Given the description of an element on the screen output the (x, y) to click on. 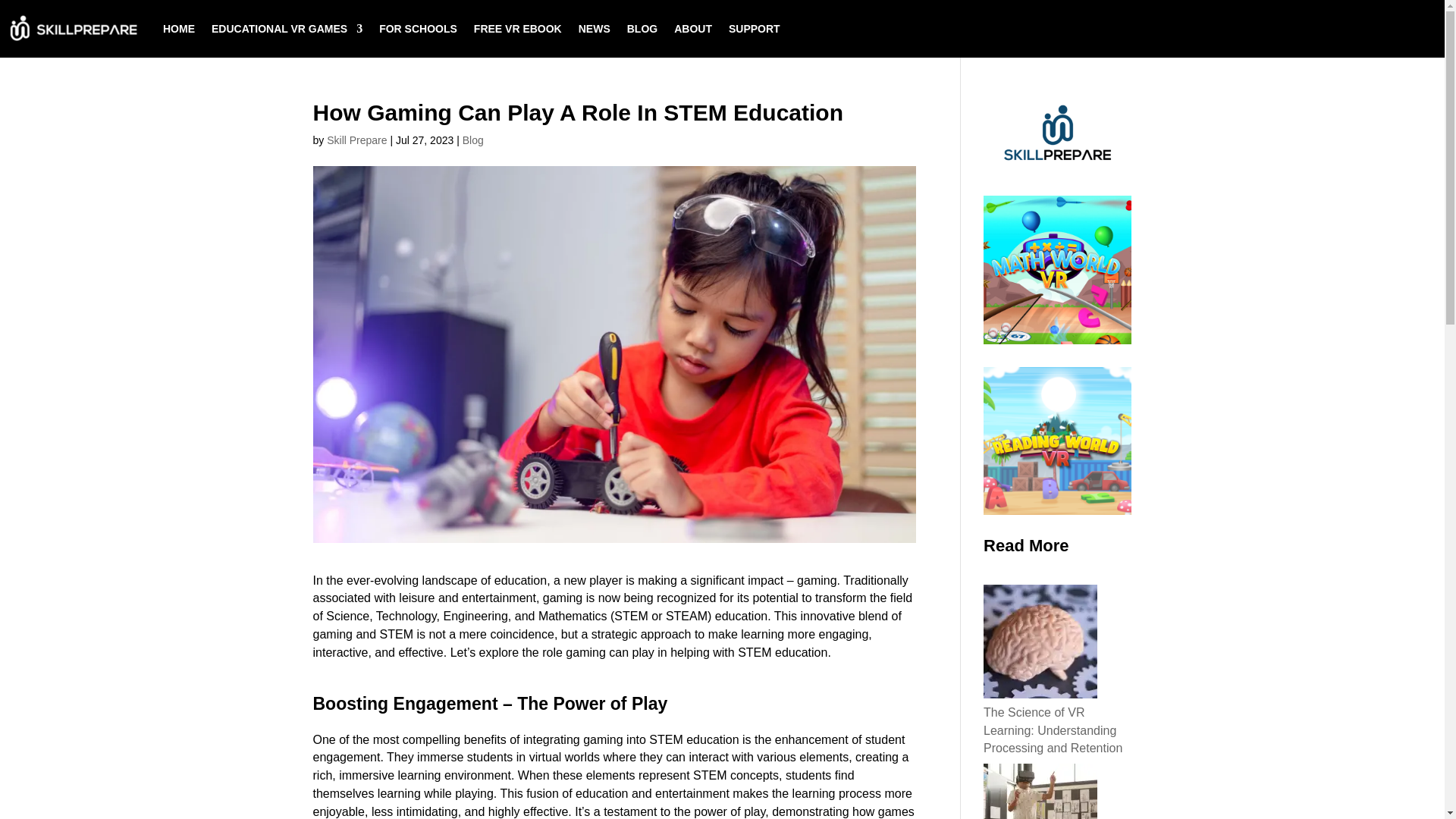
Skill Prepare (356, 140)
EDUCATIONAL VR GAMES (286, 28)
FREE VR EBOOK (518, 28)
FOR SCHOOLS (417, 28)
Posts by Skill Prepare (356, 140)
Blog (473, 140)
SUPPORT (754, 28)
